Given the description of an element on the screen output the (x, y) to click on. 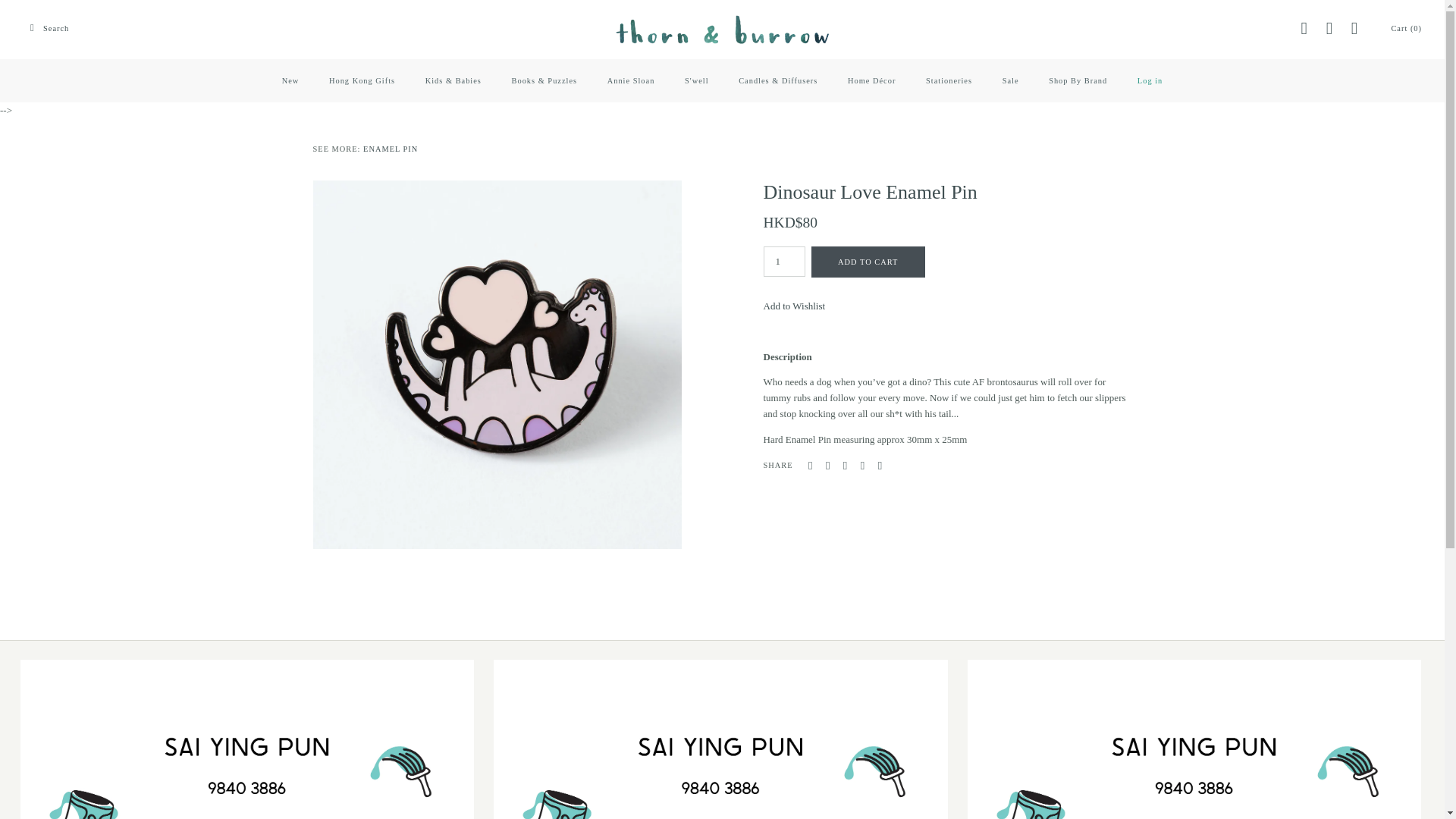
Thorn and Burrow (721, 21)
1 (783, 261)
New (290, 80)
Hong Kong Gifts (362, 80)
S'well (696, 80)
Share on Twitter (827, 465)
Add to Cart (867, 261)
Dinosaur Love Enamel Pin (497, 187)
Share on Facebook (809, 465)
Pin the main image (844, 465)
Share using email (879, 465)
Annie Sloan (631, 80)
